Given the description of an element on the screen output the (x, y) to click on. 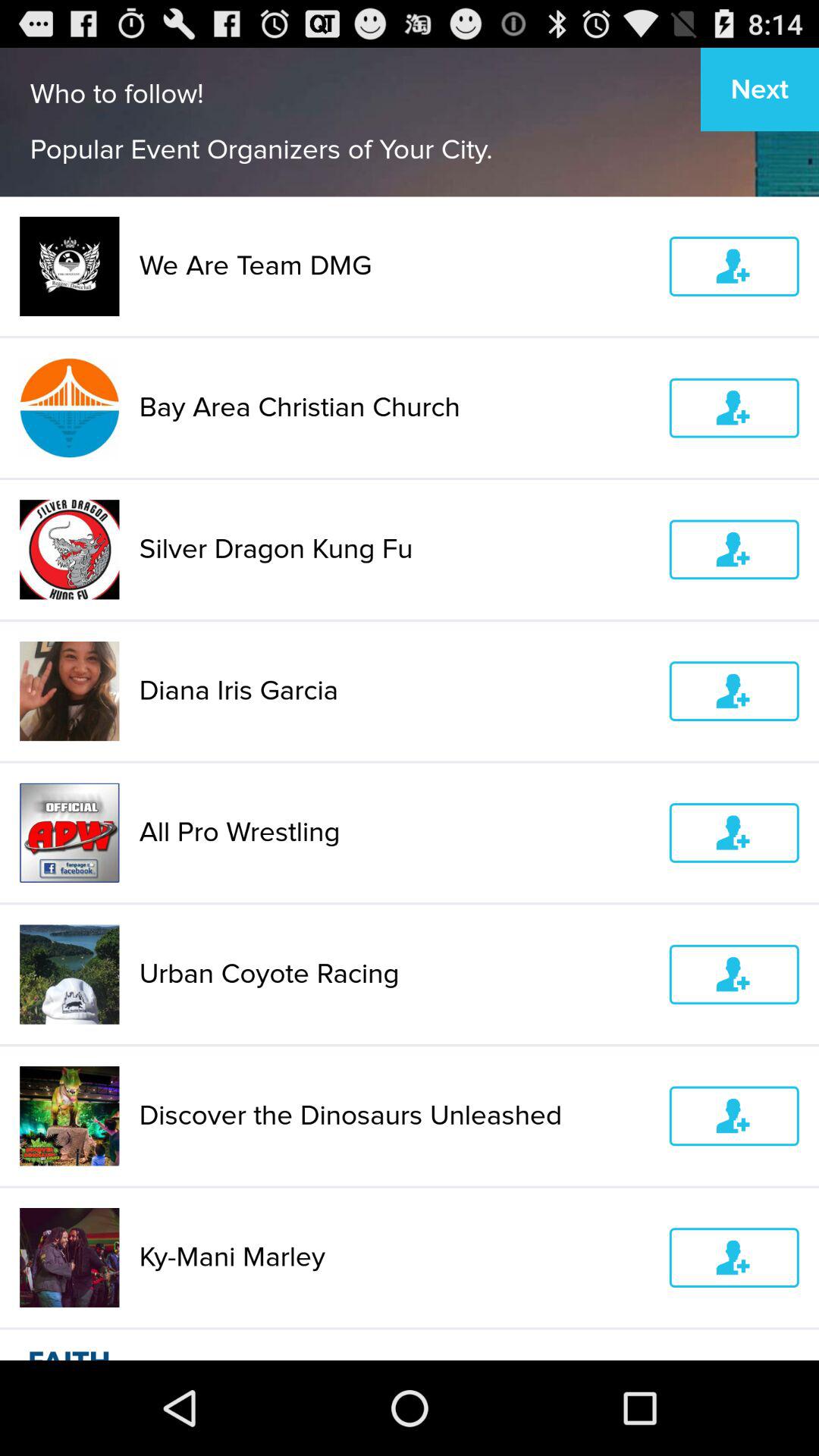
flip to next icon (759, 89)
